Given the description of an element on the screen output the (x, y) to click on. 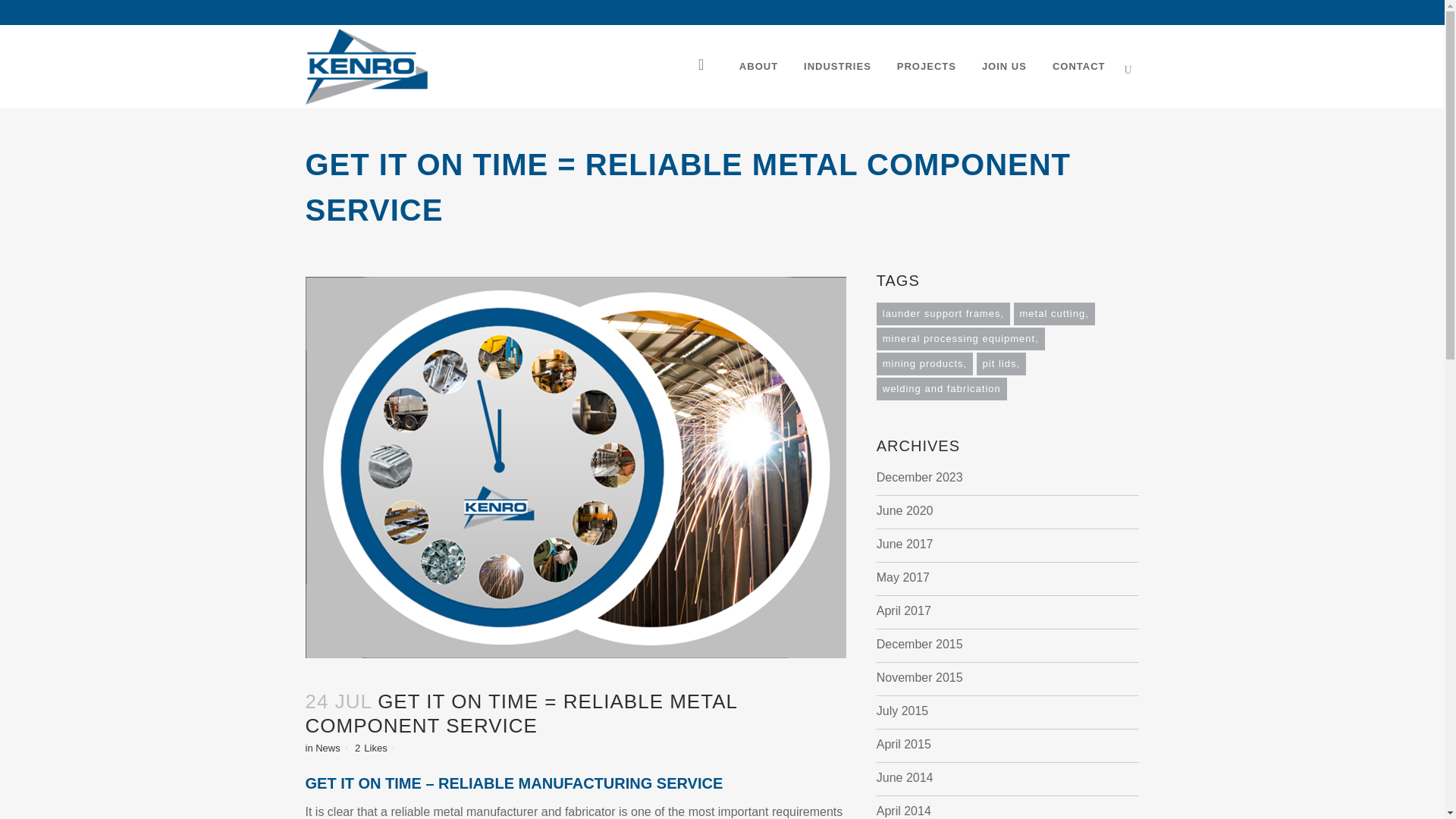
News (327, 747)
2 Likes (371, 747)
launder support frames (943, 313)
Like this (371, 747)
metal cutting (1053, 313)
INDUSTRIES (836, 66)
PROJECTS (926, 66)
CONTACT (1078, 66)
